Given the description of an element on the screen output the (x, y) to click on. 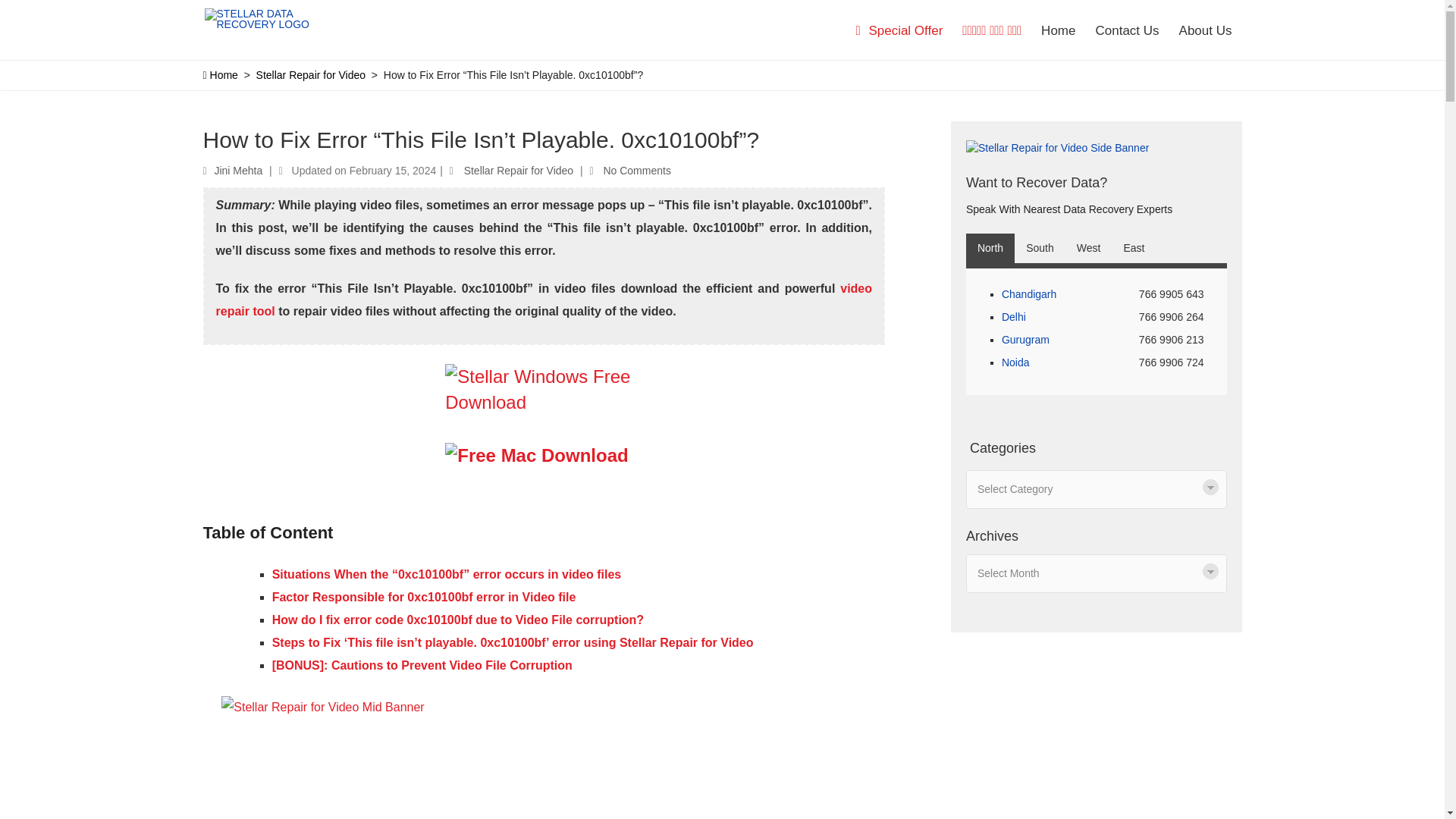
North (990, 247)
West (1088, 247)
Delhi (1013, 316)
East (1134, 247)
Special Offer (898, 31)
Jini Mehta (238, 170)
 Home (220, 74)
Gurugram (1025, 339)
Stellar Repair for Video (310, 74)
South (1039, 247)
